Given the description of an element on the screen output the (x, y) to click on. 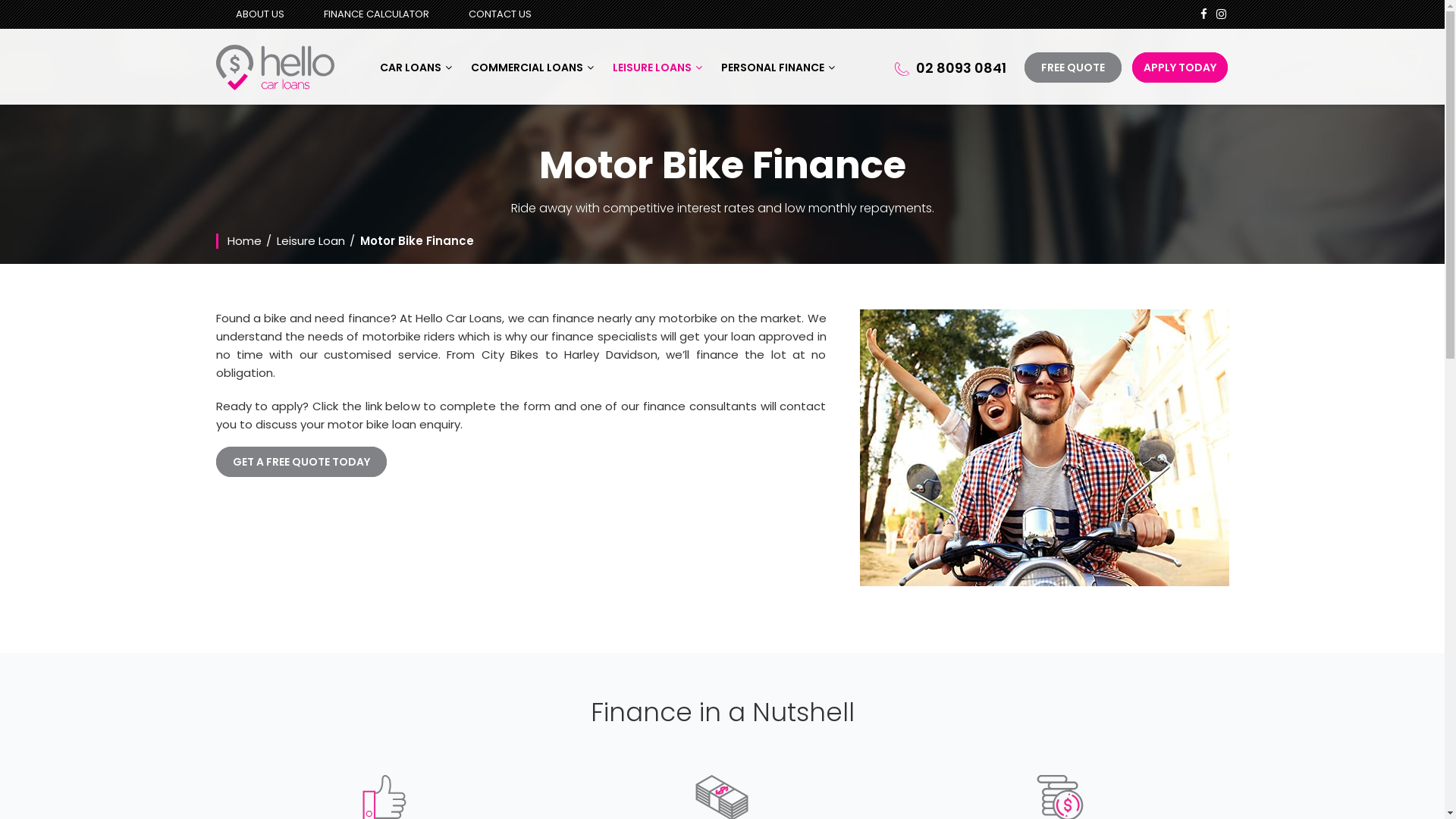
FREE QUOTE Element type: text (1071, 66)
Facebook Element type: hover (1203, 14)
APPLY TODAY Element type: text (1178, 66)
CAR LOANS Element type: text (415, 67)
COMMERCIAL LOANS Element type: text (531, 67)
Instagram Element type: hover (1220, 14)
FINANCE CALCULATOR Element type: text (375, 14)
ABOUT US Element type: text (259, 14)
Leisure Loan Element type: text (310, 240)
Hello Car Loans Element type: hover (274, 66)
GET A FREE QUOTE TODAY Element type: text (300, 461)
Hello Car Loans Element type: hover (274, 67)
PERSONAL FINANCE Element type: text (777, 67)
Home Element type: text (244, 240)
CONTACT US Element type: text (499, 14)
LEISURE LOANS Element type: text (657, 67)
